Given the description of an element on the screen output the (x, y) to click on. 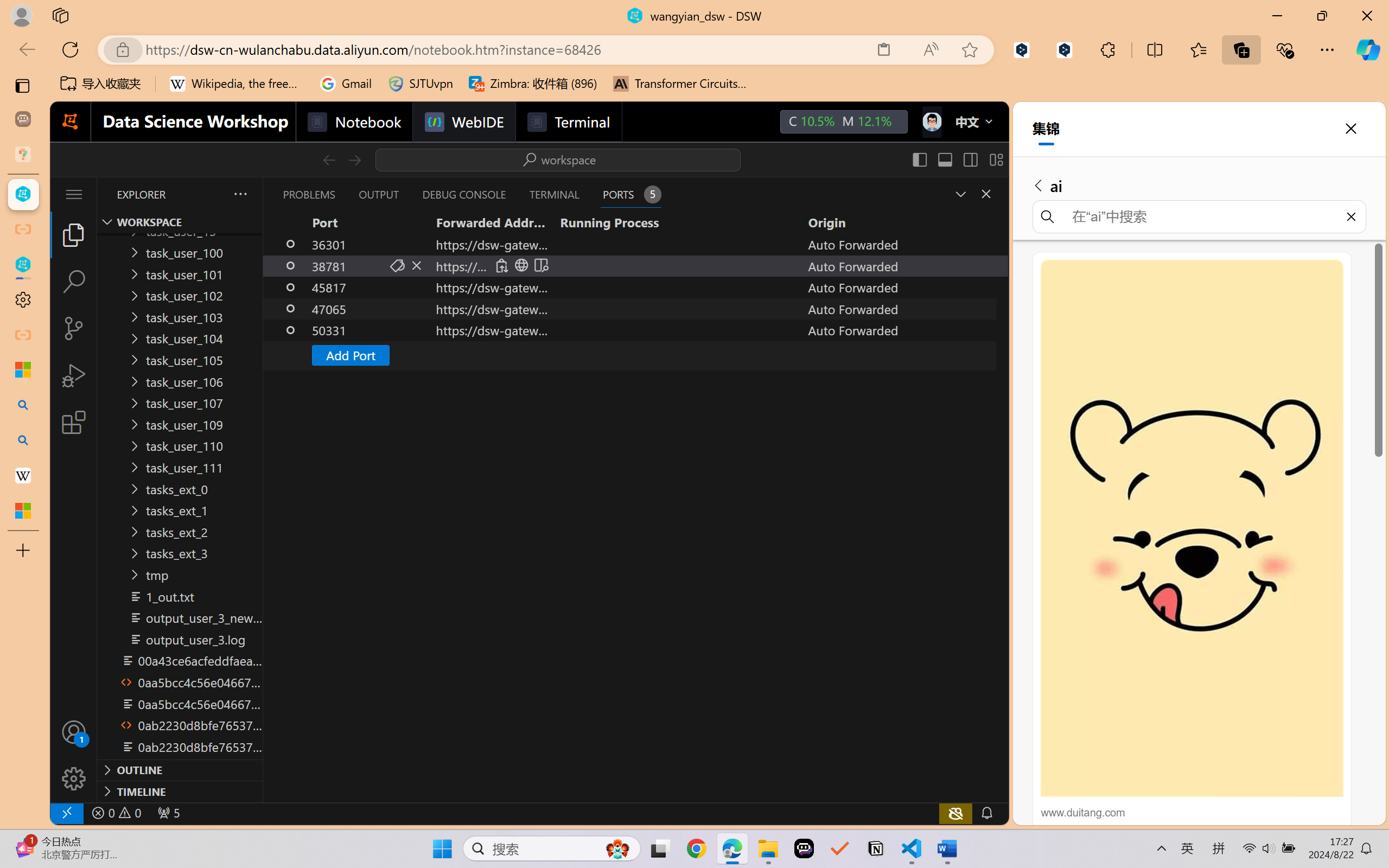
Terminal (Ctrl+`) (553, 194)
Toggle Secondary Side Bar (Ctrl+Alt+B) (969, 159)
Forwarded Ports: 36301, 47065, 38781, 45817, 50331 (167, 812)
Ports - 5 forwarded ports Ports - 5 forwarded ports (630, 194)
Run and Debug (Ctrl+Shift+D) (73, 375)
Close Panel (986, 193)
